Given the description of an element on the screen output the (x, y) to click on. 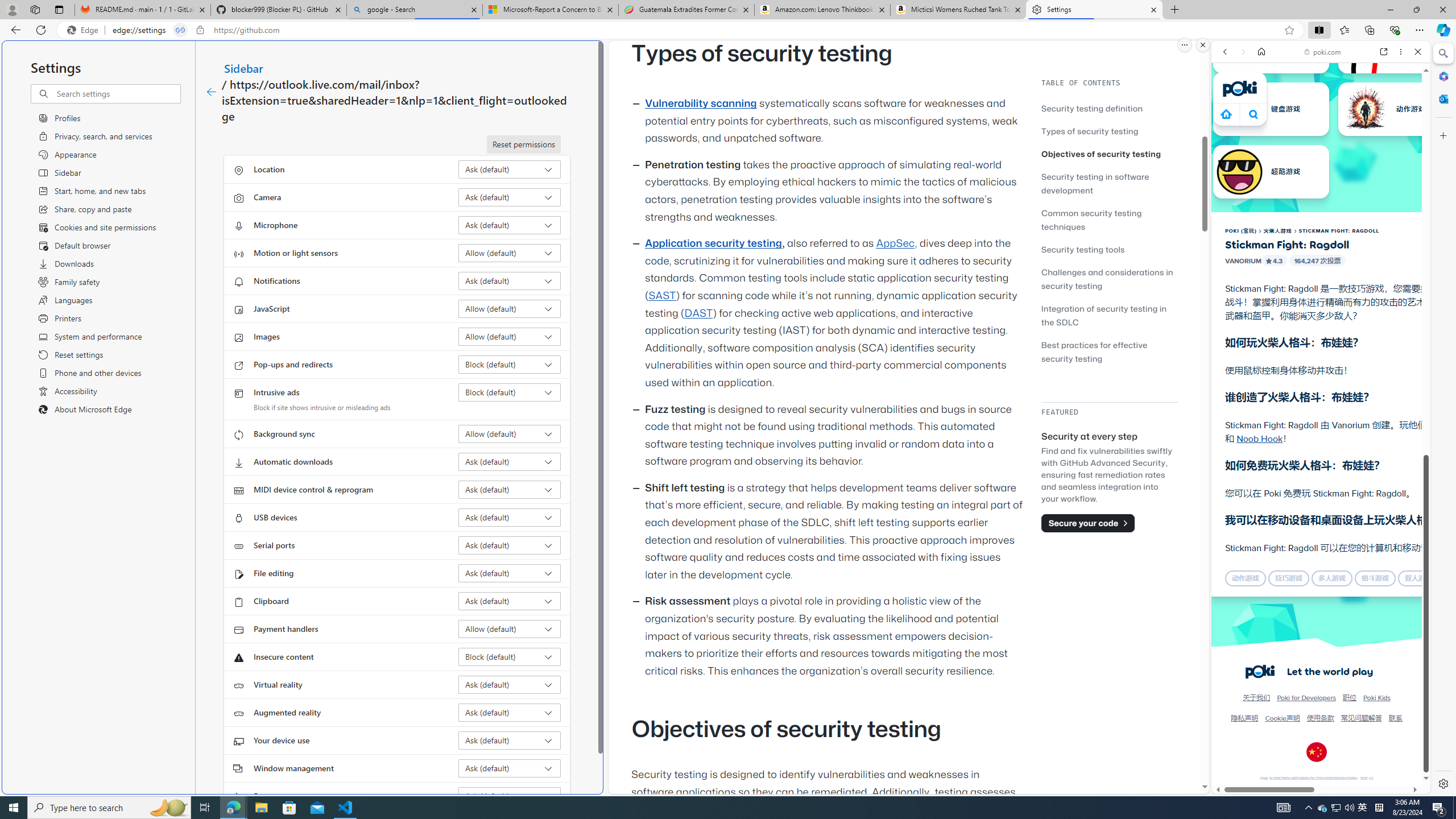
Crazy Cars (1419, 574)
SAST (661, 295)
Search Filter, IMAGES (1262, 129)
Microphone Ask (default) (509, 225)
Integration of security testing in the SDLC (1104, 314)
Poki Kids (1376, 697)
Security testing tools (1109, 249)
